Given the description of an element on the screen output the (x, y) to click on. 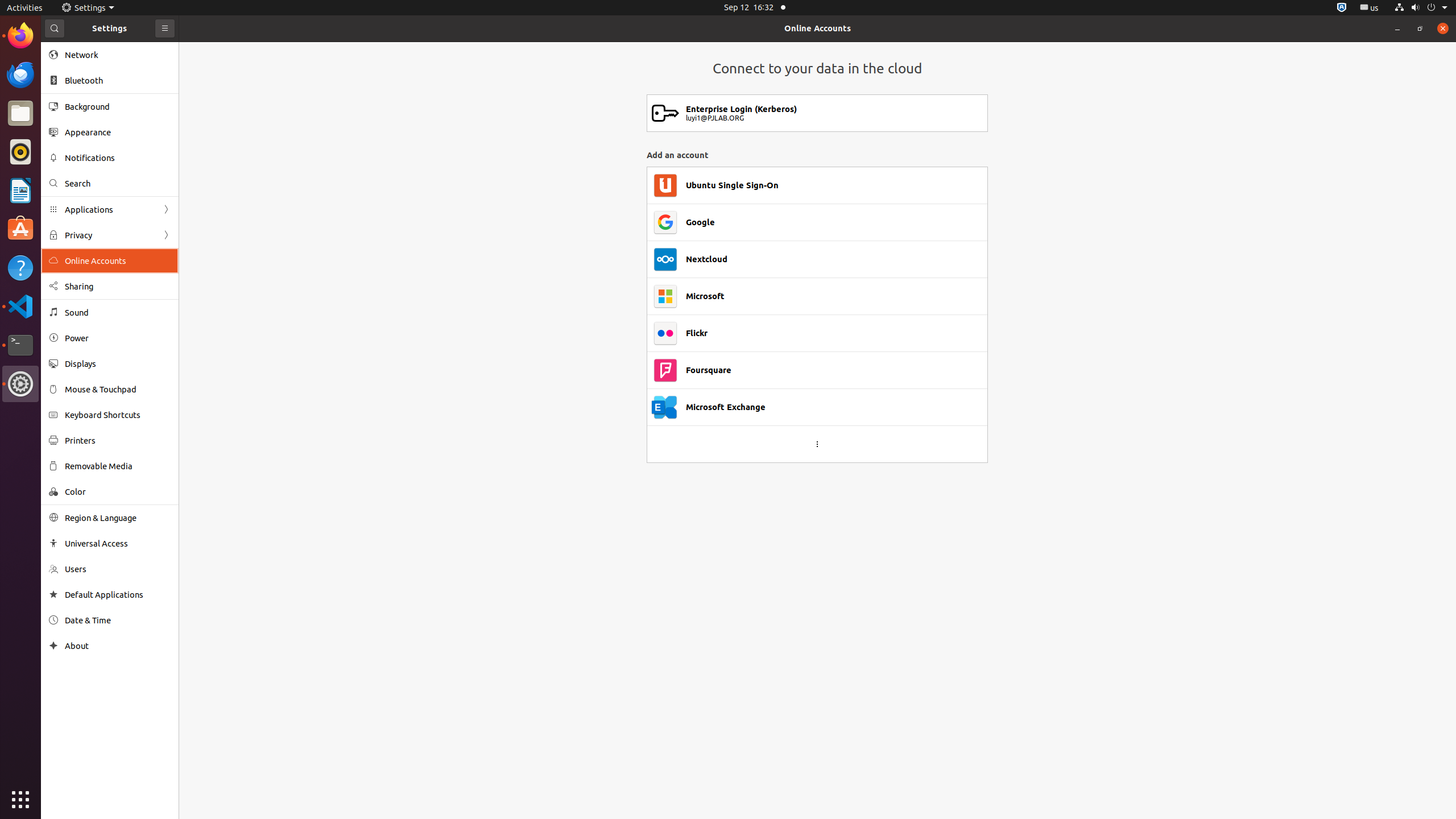
Foursquare Element type: label (708, 370)
About Element type: icon (53, 645)
Notifications Element type: label (117, 157)
Minimize Element type: push-button (1397, 27)
